Given the description of an element on the screen output the (x, y) to click on. 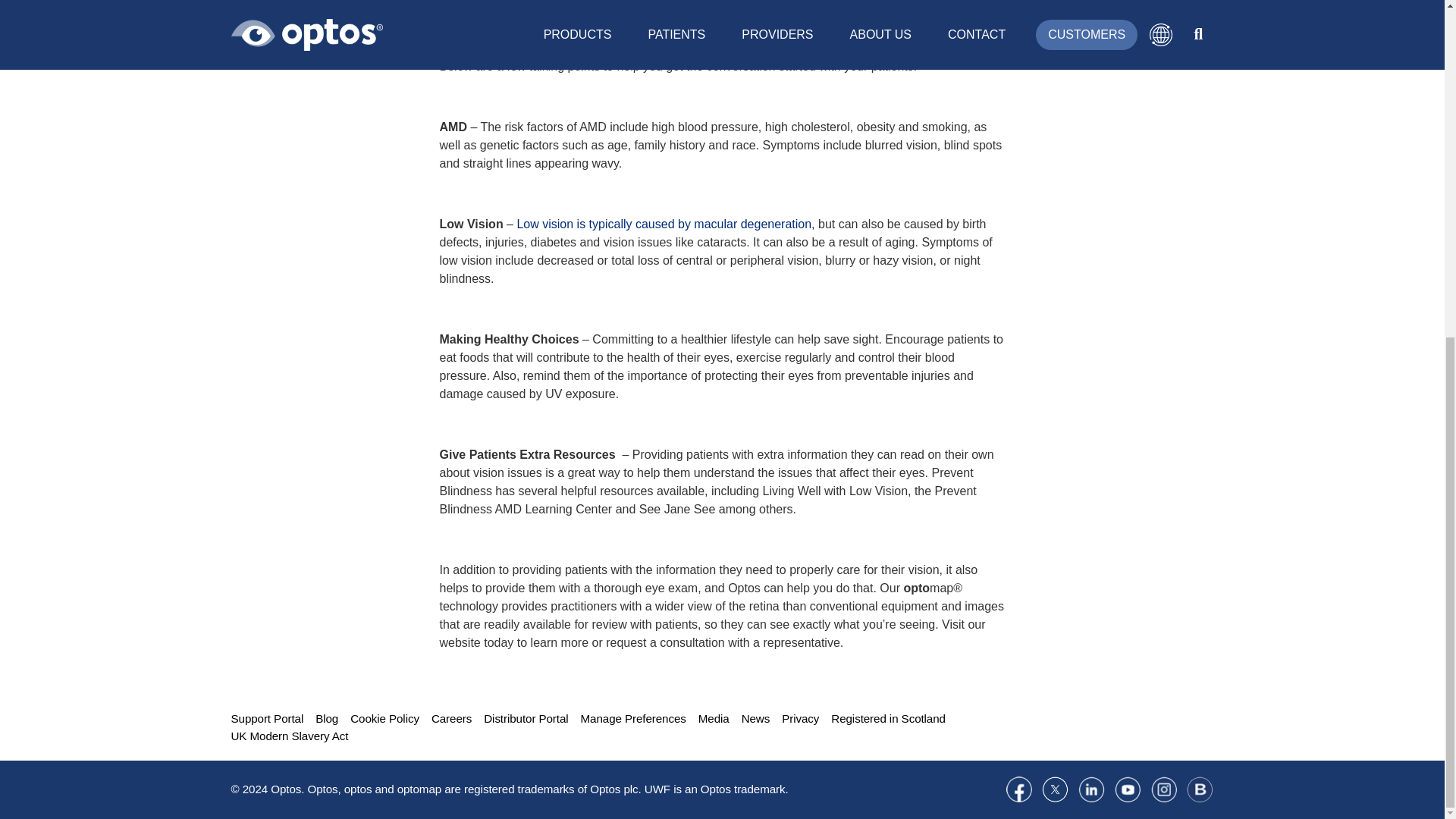
News (755, 719)
Support Portal (266, 719)
Manage Preferences (632, 719)
Registered in Scotland (887, 719)
Privacy (799, 719)
Low vision is typically caused by macular degeneration (663, 223)
Distributor Portal (525, 719)
Blog (326, 719)
Cookie Policy (384, 719)
